Given the description of an element on the screen output the (x, y) to click on. 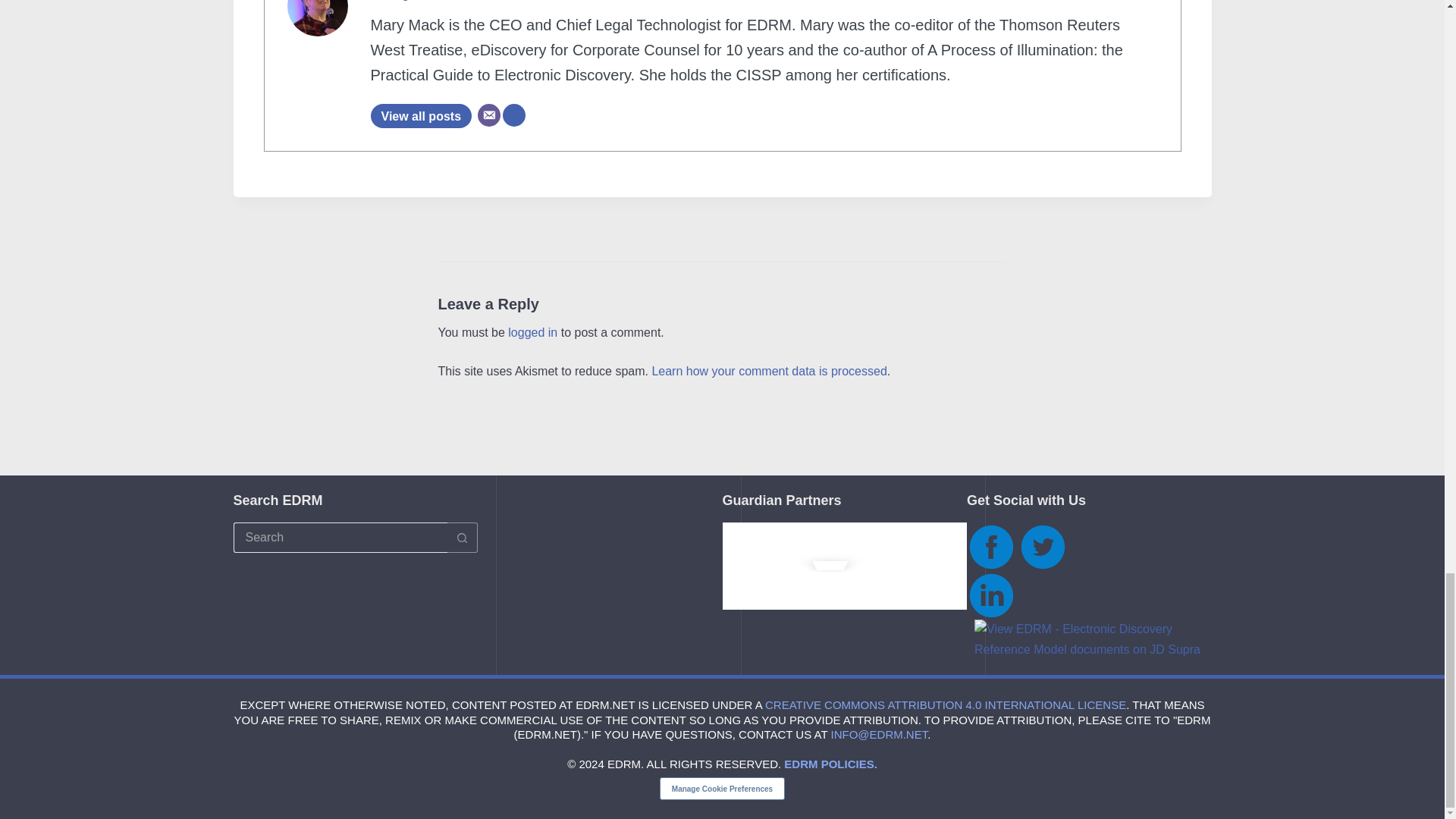
Connect with EDRM on LinkedIn (990, 594)
Find EDRM on Facebook (990, 545)
Search for... (340, 537)
Follow EDRM on Twitter (1042, 545)
View all posts (420, 115)
